Given the description of an element on the screen output the (x, y) to click on. 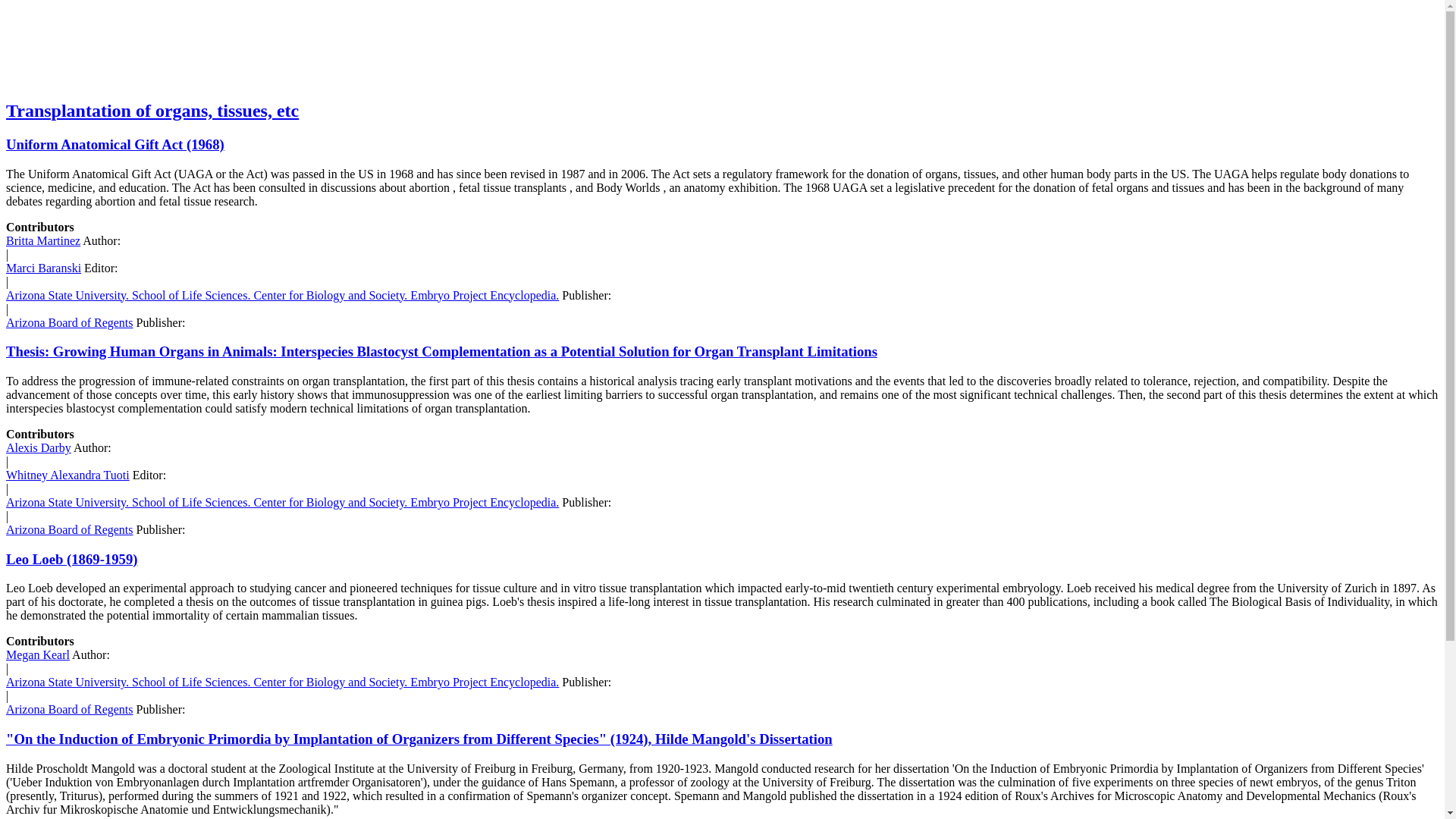
Marci Baranski (43, 267)
Arizona Board of Regents (69, 708)
Megan Kearl (37, 654)
Transplantation of organs, tissues, etc (151, 110)
Arizona Board of Regents (69, 529)
Arizona Board of Regents (69, 322)
Alexis Darby (38, 447)
Britta Martinez (42, 240)
Whitney Alexandra Tuoti (67, 474)
